Given the description of an element on the screen output the (x, y) to click on. 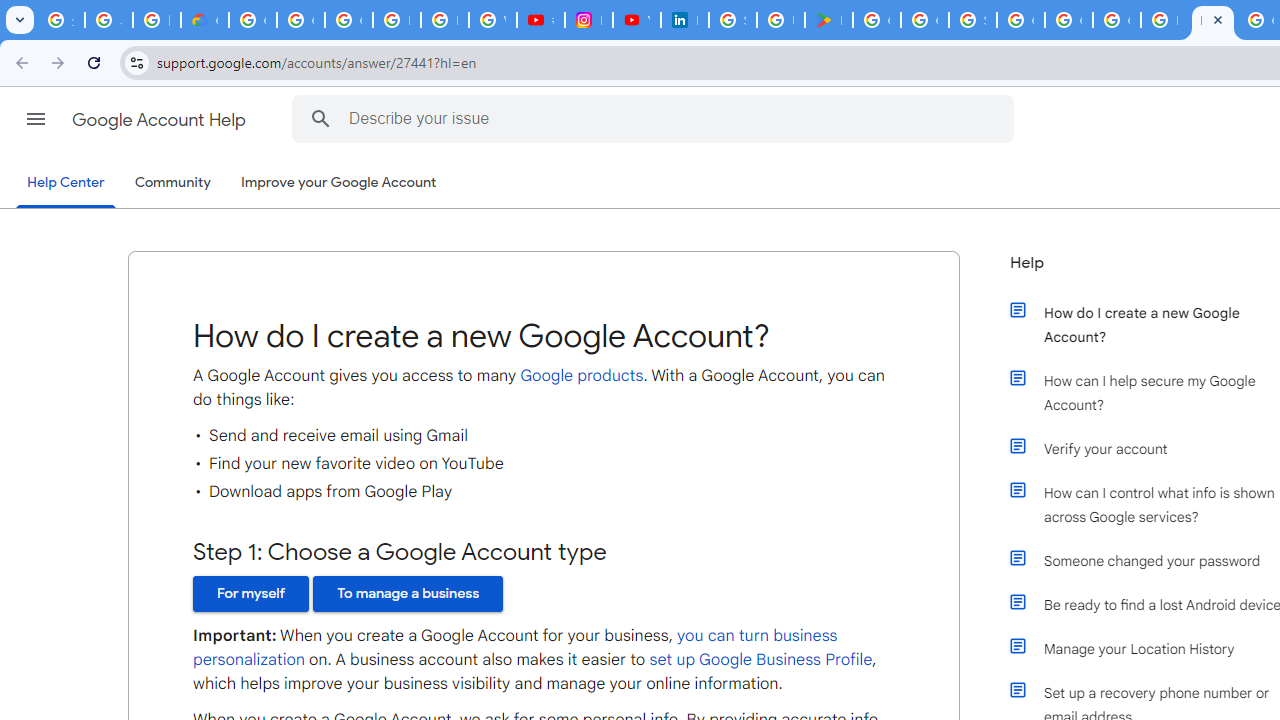
Sign in - Google Accounts (732, 20)
Google Account Help (160, 119)
Describe your issue (655, 118)
Identity verification via Persona | LinkedIn Help (684, 20)
Community (171, 183)
Help Center (65, 183)
Google Cloud Platform (1020, 20)
